Given the description of an element on the screen output the (x, y) to click on. 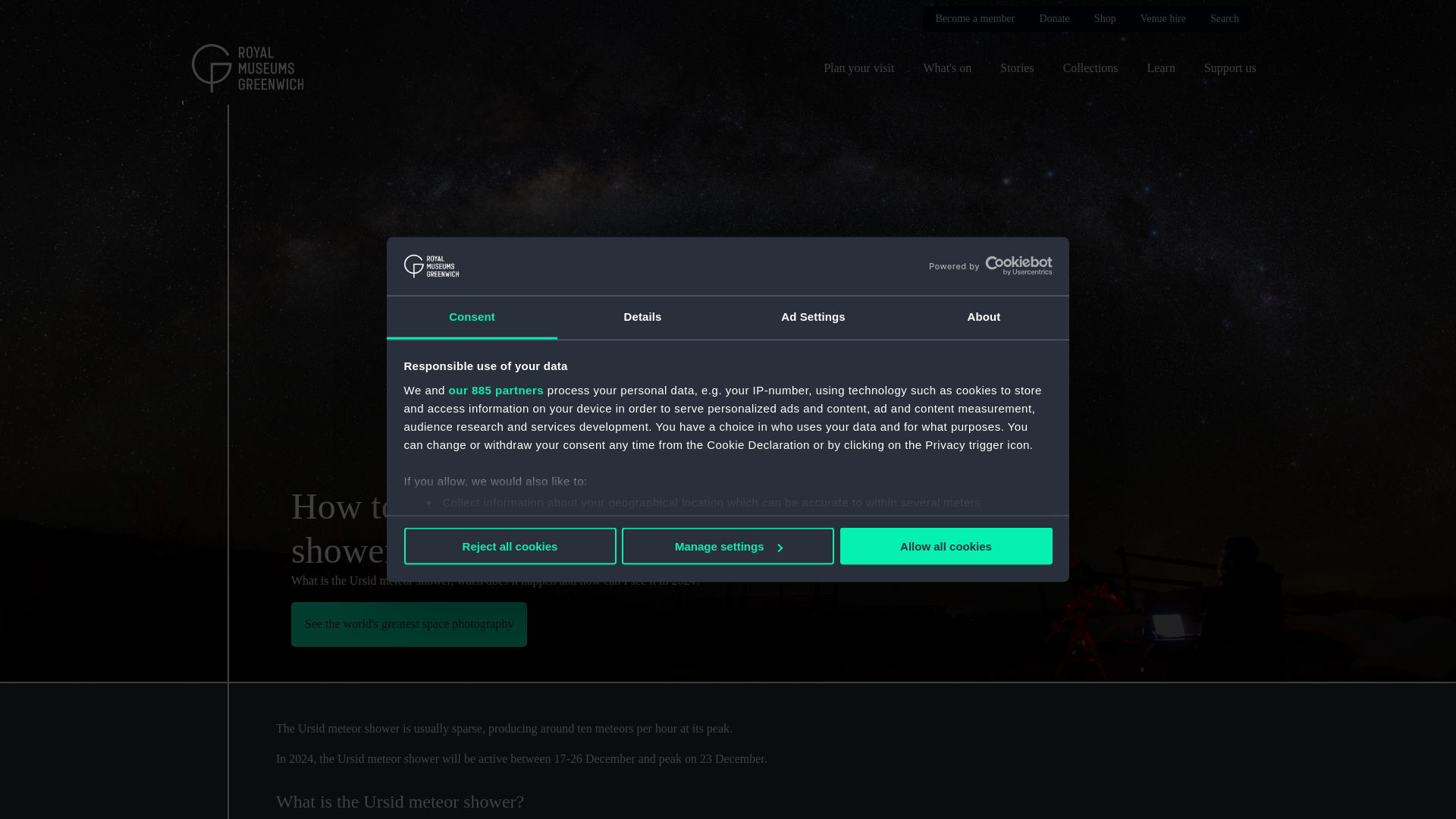
Consent (472, 317)
details section (932, 540)
our 885 partners (496, 389)
About (983, 317)
Details (642, 317)
Ad Settings (813, 317)
